Given the description of an element on the screen output the (x, y) to click on. 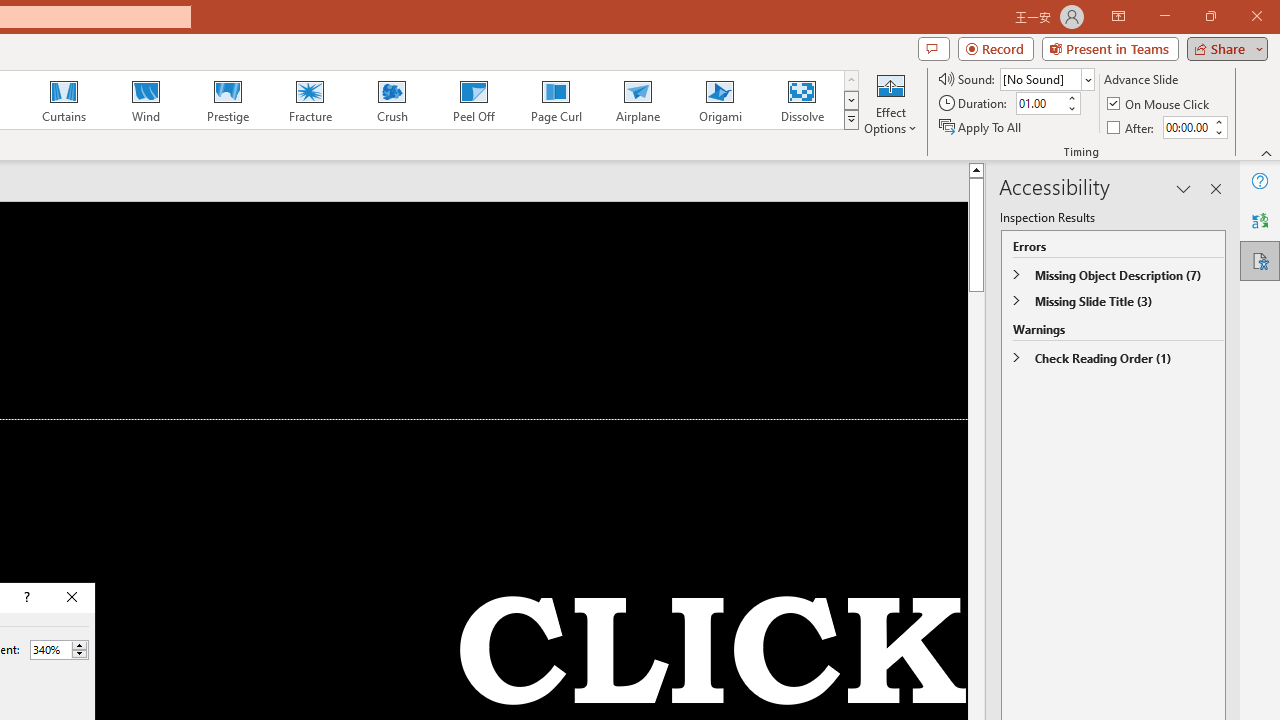
Apply To All (981, 126)
Duration (1039, 103)
On Mouse Click (1159, 103)
Percent (59, 650)
Transition Effects (850, 120)
